Given the description of an element on the screen output the (x, y) to click on. 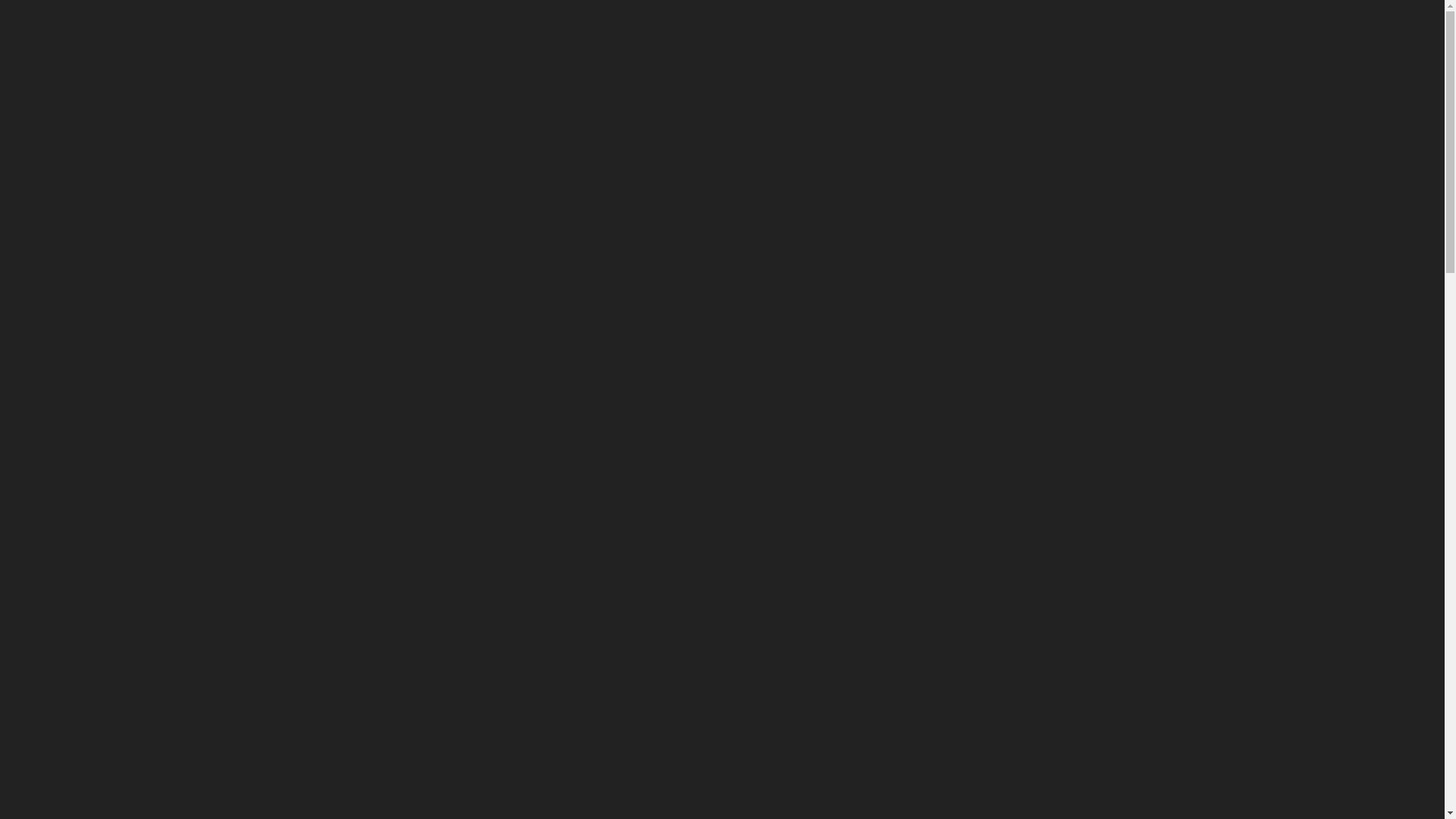
HOME PAGE Element type: text (648, 646)
GET AN OFFER NOW Element type: text (335, 473)
SINGLE FLOOR VILLA Element type: text (1138, 792)
SINGLE FLOOR VILLA Element type: text (473, 792)
TR Element type: text (1398, 33)
I TURKISH Element type: text (1047, 33)
CORPORATE Element type: text (582, 33)
TECHNICAL DOCUMENT Element type: text (909, 33)
REFERENCES Element type: text (819, 33)
SERVICES Element type: text (643, 33)
SINGLE FLOOR VILLA Element type: text (805, 792)
STEEL HOUSE PROJECTS Element type: text (728, 33)
GET AN OFFER NOW Element type: text (1196, 34)
HOME PAGE Element type: text (518, 33)
CONTACT Element type: text (991, 33)
